Given the description of an element on the screen output the (x, y) to click on. 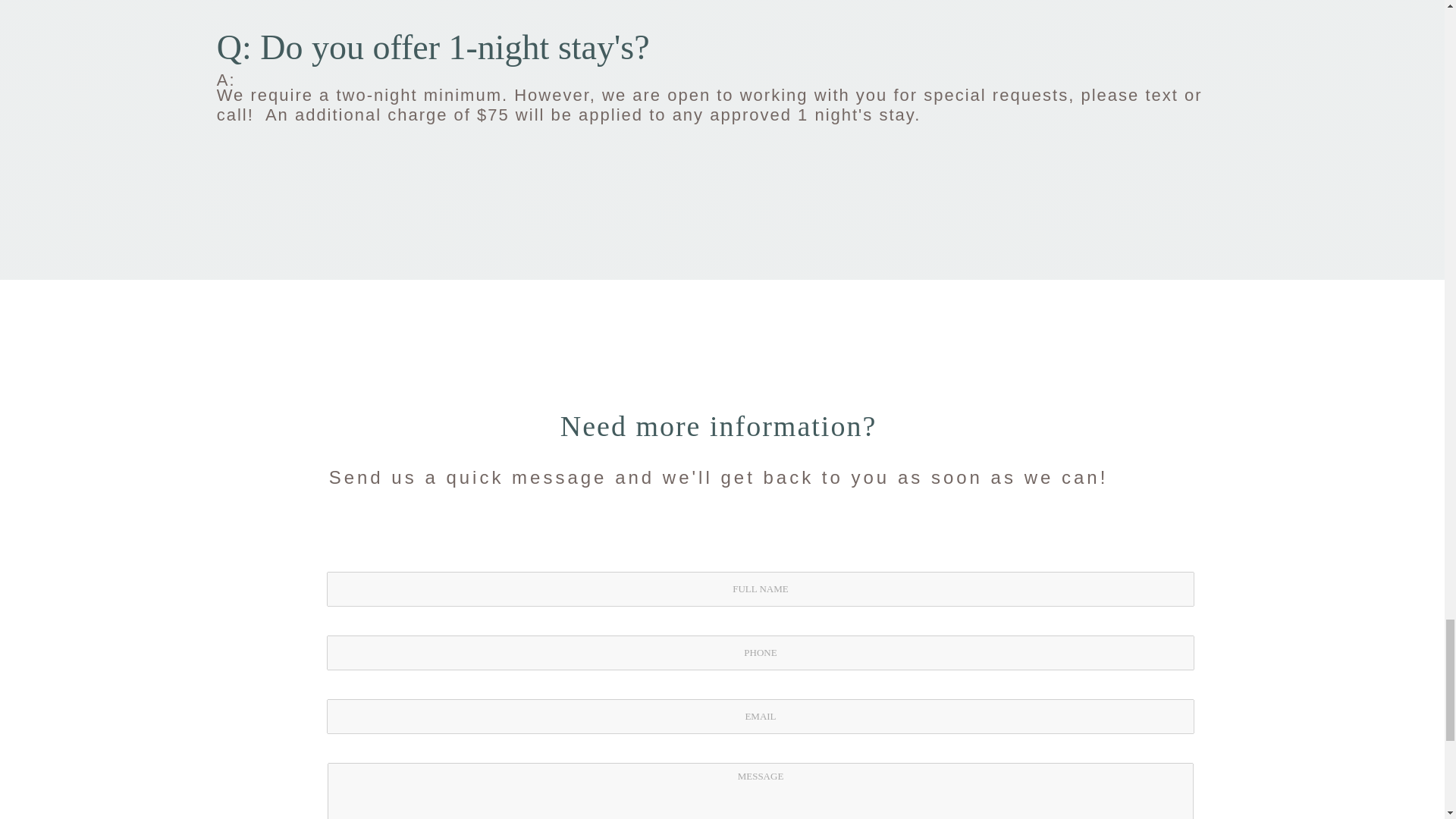
Full Name (760, 588)
Email (760, 716)
Phone (760, 652)
Message (760, 790)
